Given the description of an element on the screen output the (x, y) to click on. 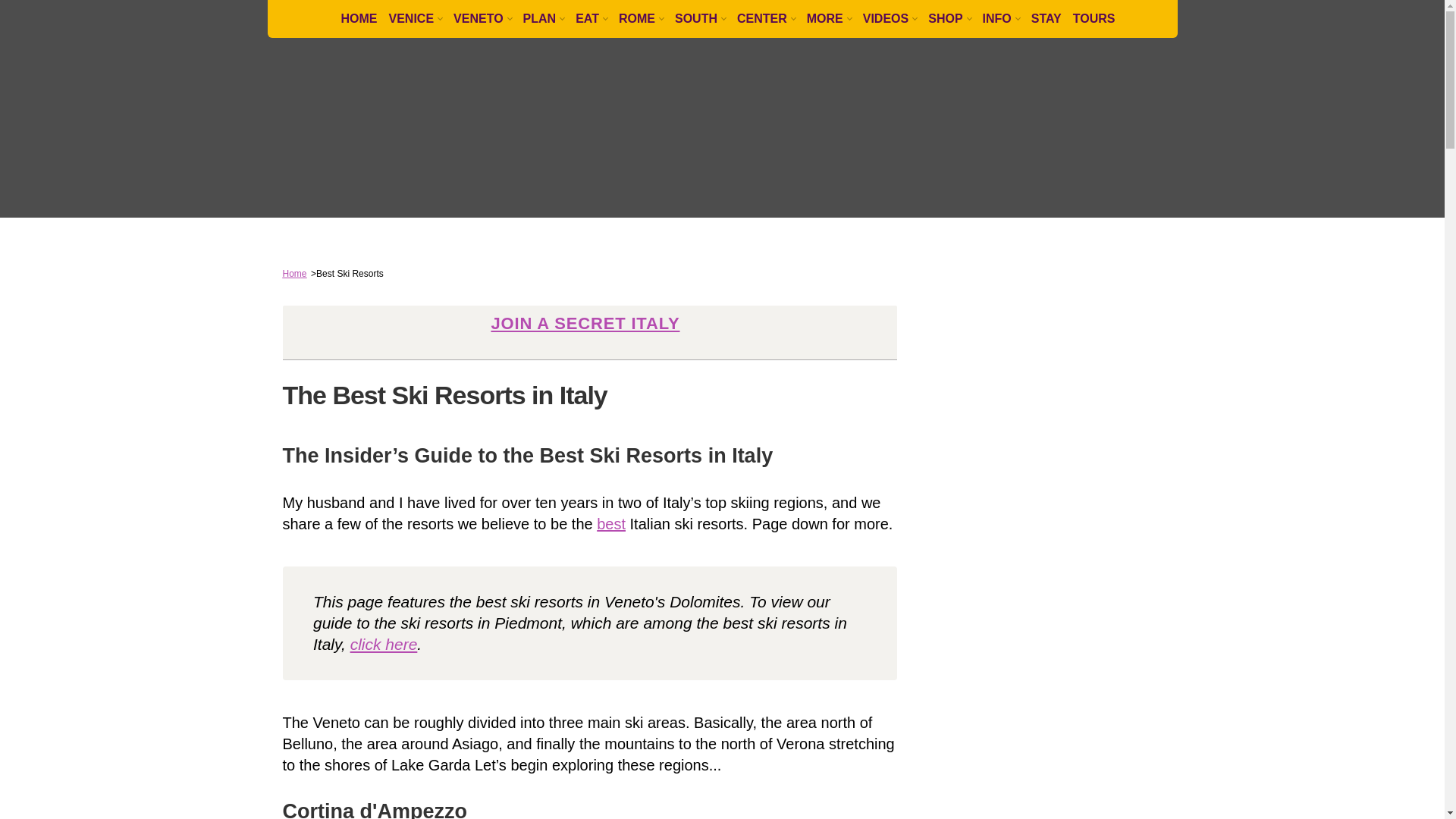
HOME (353, 18)
VENICE-ITALY-VENETO.COM (369, 91)
